Given the description of an element on the screen output the (x, y) to click on. 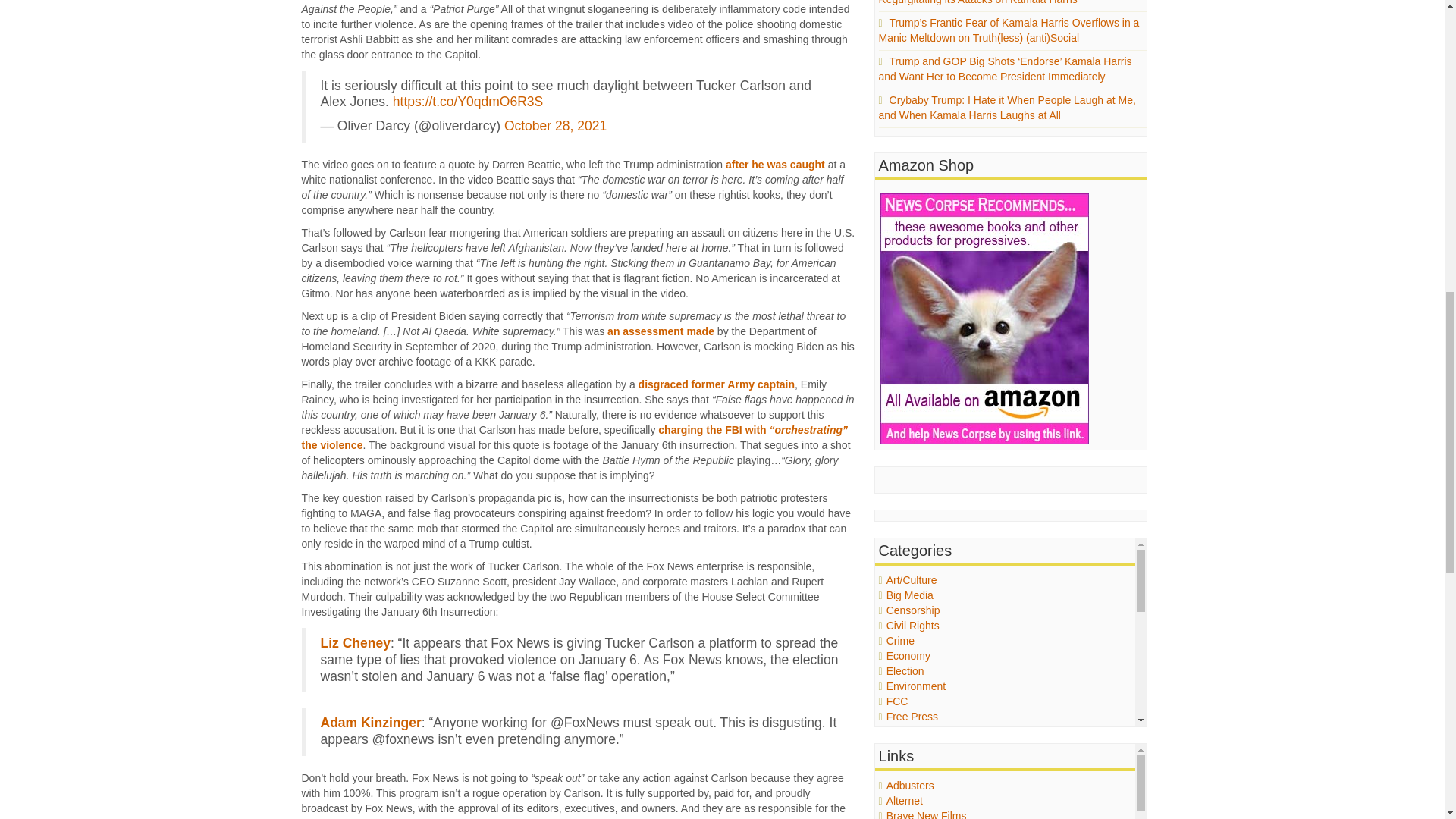
October 28, 2021 (555, 125)
Liz Cheney (355, 642)
after he was caught (775, 164)
an assessment made (660, 331)
disgraced former Army captain (716, 384)
UnFox My Cable Box (686, 818)
Adam Kinzinger (370, 722)
